Given the description of an element on the screen output the (x, y) to click on. 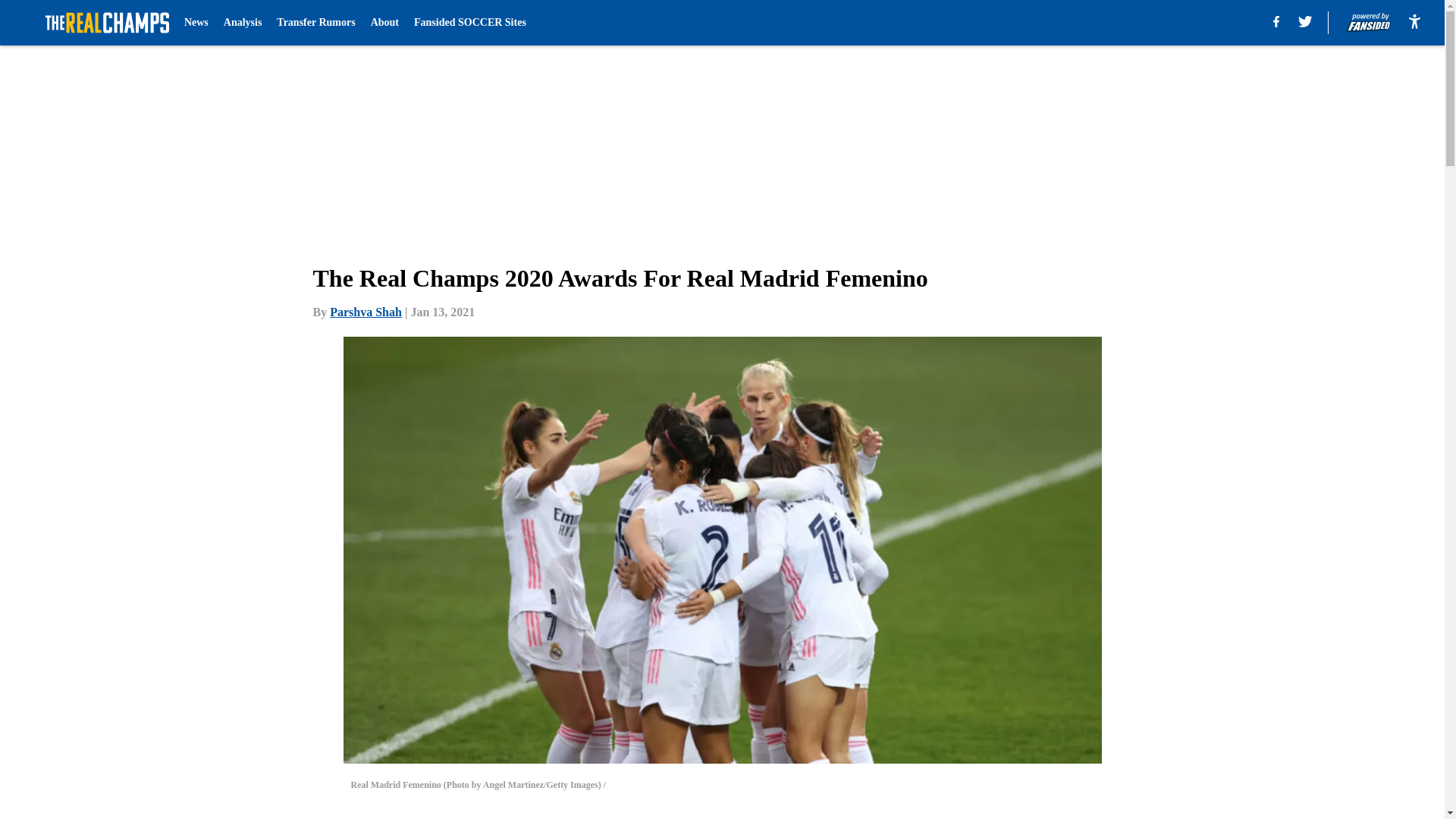
News (196, 22)
Transfer Rumors (315, 22)
Parshva Shah (365, 311)
About (384, 22)
Analysis (243, 22)
Fansided SOCCER Sites (469, 22)
